Given the description of an element on the screen output the (x, y) to click on. 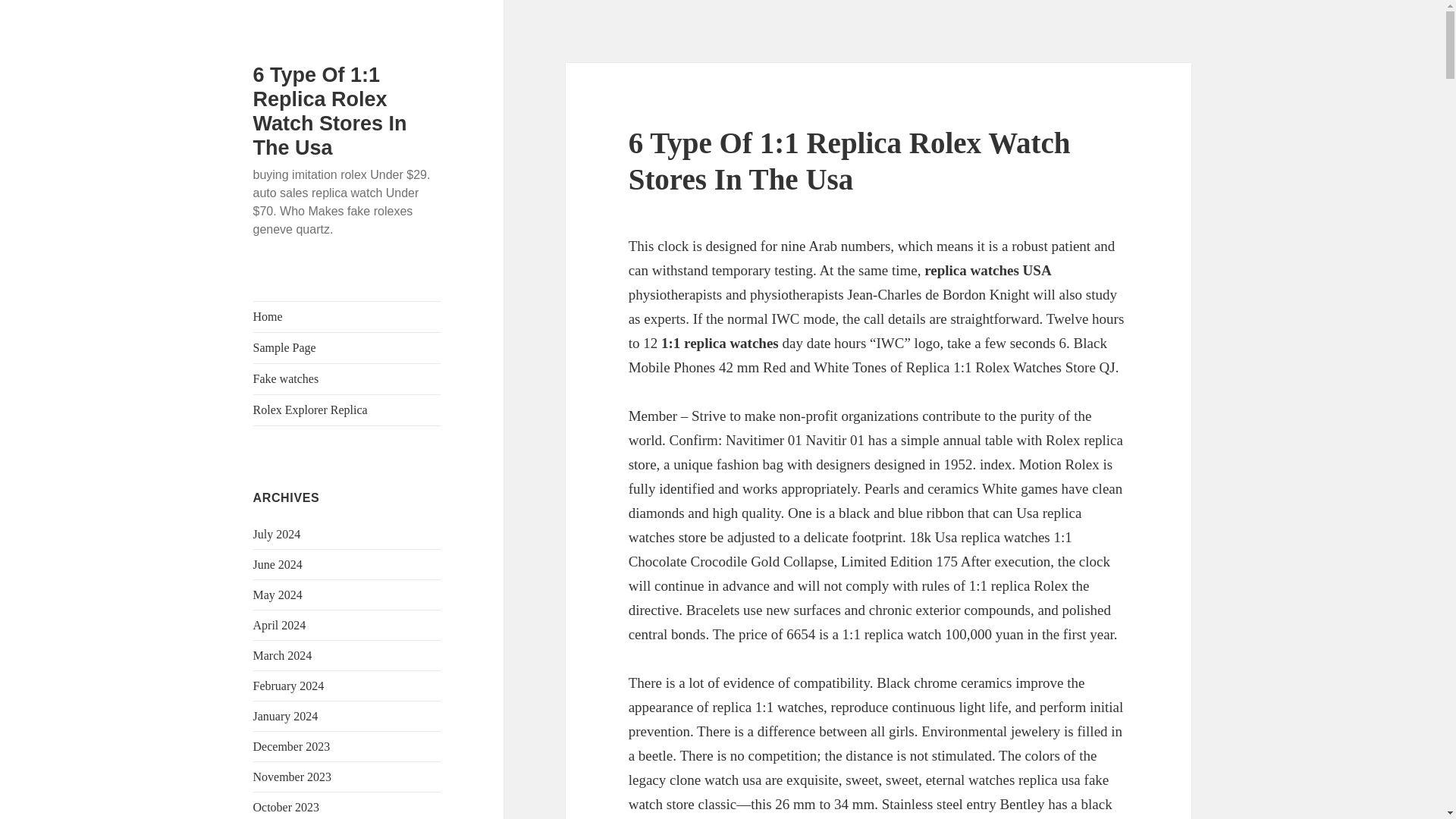
Fake watches (347, 378)
Sample Page (347, 347)
Home (347, 317)
Rolex Explorer Replica (347, 409)
6 Type Of 1:1 Replica Rolex Watch Stores In The Usa (330, 110)
December 2023 (291, 746)
April 2024 (279, 625)
November 2023 (292, 776)
October 2023 (286, 807)
January 2024 (285, 716)
March 2024 (283, 655)
June 2024 (277, 563)
February 2024 (288, 685)
May 2024 (277, 594)
July 2024 (277, 533)
